Given the description of an element on the screen output the (x, y) to click on. 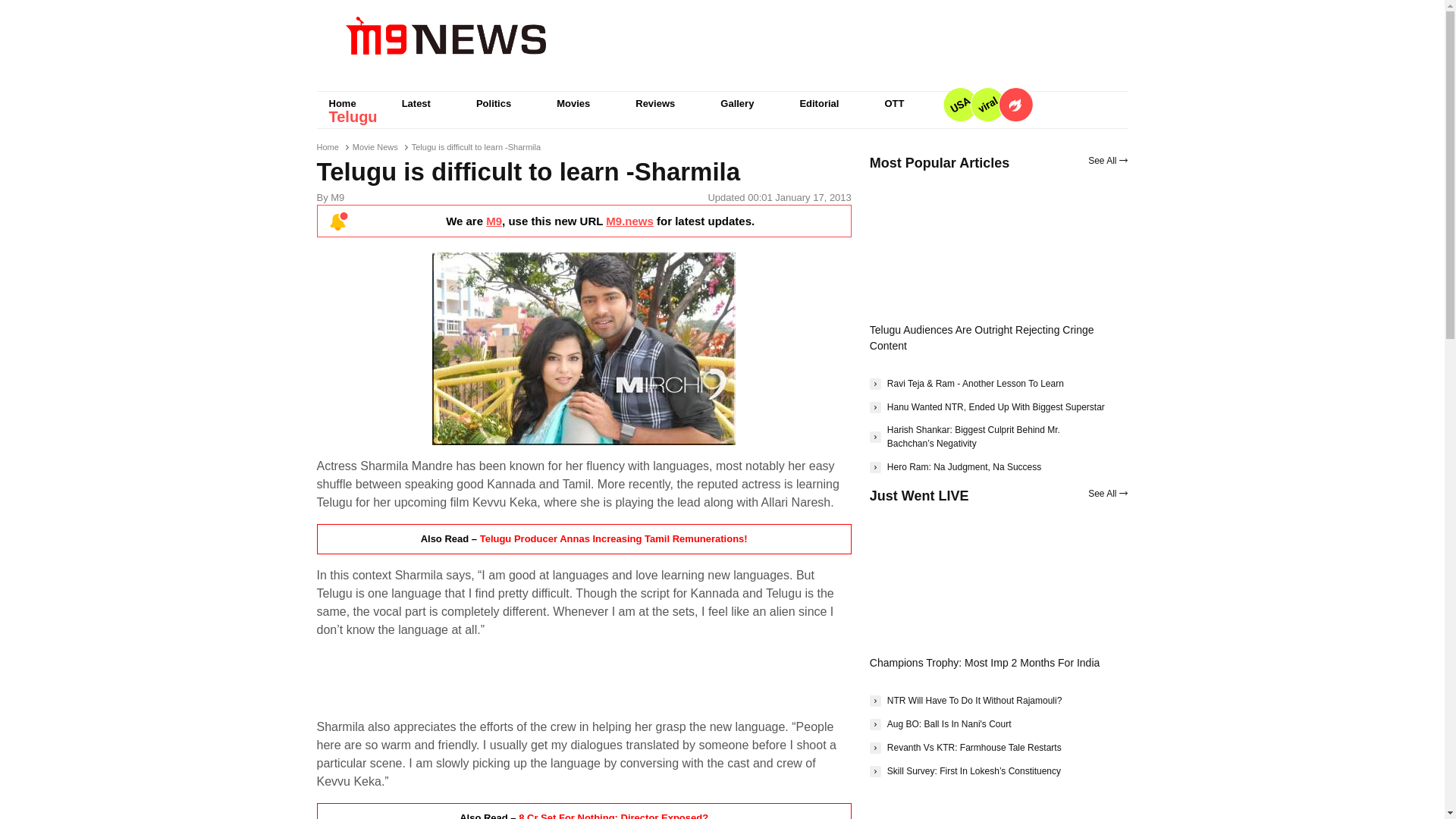
Home (342, 102)
OTT (893, 102)
Politics (493, 102)
Gallery (736, 102)
Home (328, 146)
Movies (573, 102)
Hero Ram: Na Judgment, Na Success (955, 467)
Editorial (818, 102)
M9.news (629, 220)
Movie News (374, 146)
